Given the description of an element on the screen output the (x, y) to click on. 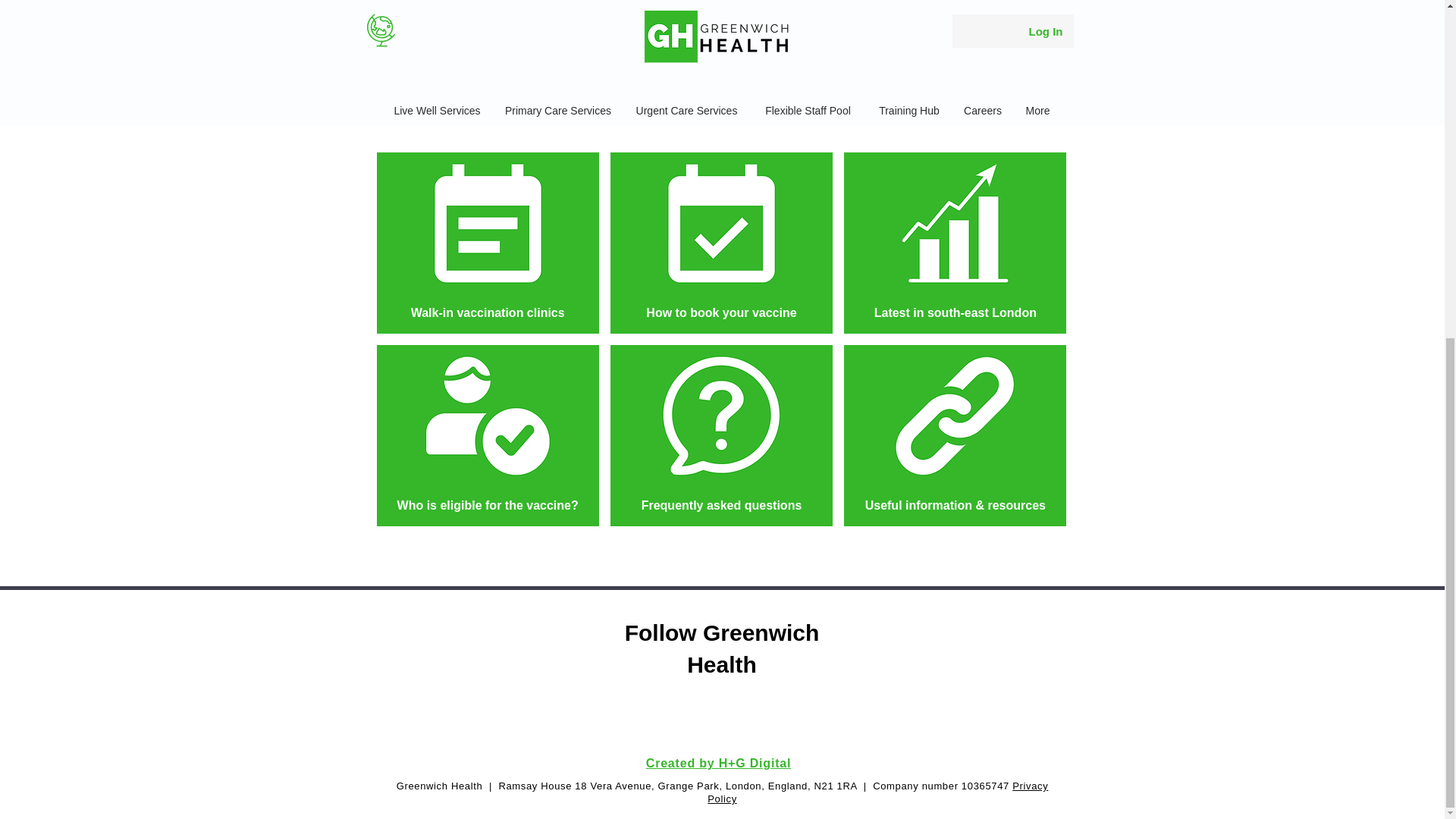
How to book your vaccine (721, 242)
Who is eligible for the vaccine? (486, 435)
Frequently asked questions (721, 435)
Walk-in vaccination clinics (486, 242)
Latest in south-east London (954, 242)
